Given the description of an element on the screen output the (x, y) to click on. 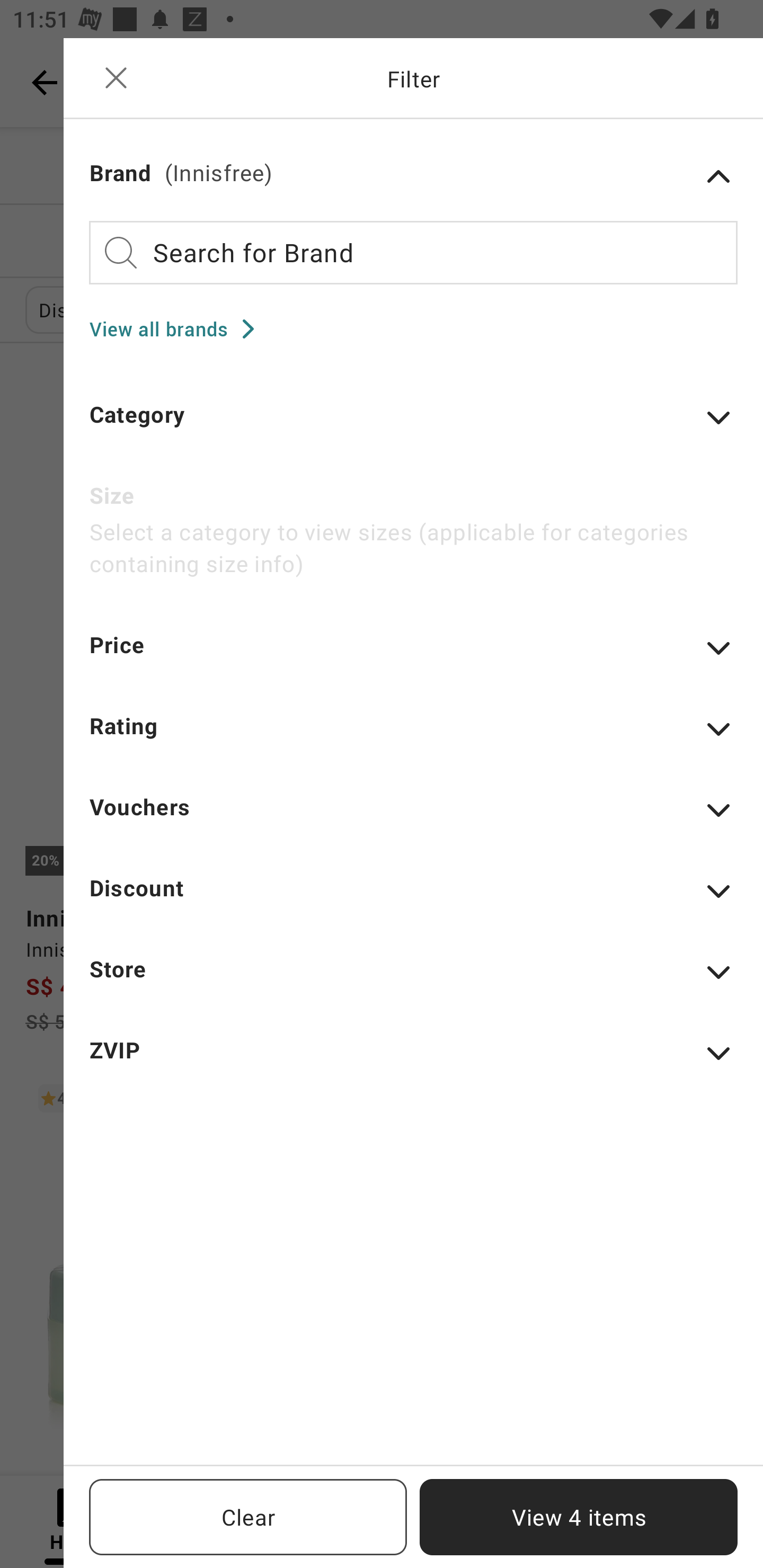
Brand (Innisfree) (413, 176)
Search for Brand (413, 252)
View all brands (177, 328)
Category (413, 426)
Price (413, 656)
Rating (413, 738)
Vouchers (413, 818)
Discount (413, 899)
Store (413, 981)
ZVIP (413, 1061)
Clear (247, 1516)
View 4 items (578, 1516)
